Given the description of an element on the screen output the (x, y) to click on. 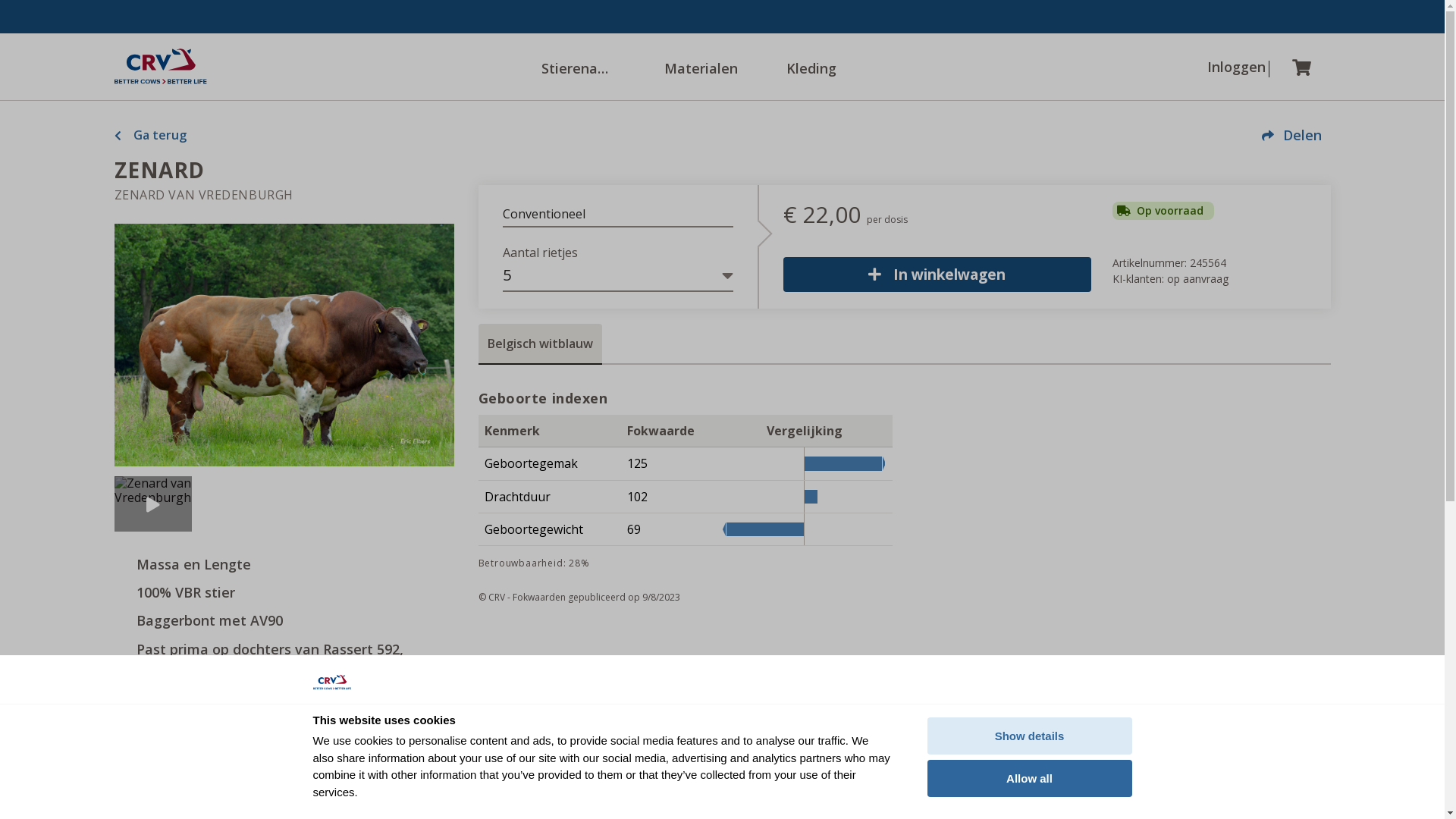
Allow all Element type: text (1028, 778)
Stierenaanbod Element type: text (578, 66)
Belgisch witblauw Element type: text (539, 343)
Geboorte indexen Element type: text (684, 398)
Materialen Element type: text (701, 66)
Kleding Element type: text (823, 66)
Ga terug Element type: text (149, 134)
Stiergegevens Element type: text (283, 715)
Delen Element type: text (1291, 135)
In winkelwagen Element type: text (936, 274)
Inloggen Element type: text (1226, 66)
Winkelwagen Element type: text (1312, 66)
Home Element type: hover (159, 66)
Show details Element type: text (1028, 735)
Conventioneel Element type: text (617, 214)
